Given the description of an element on the screen output the (x, y) to click on. 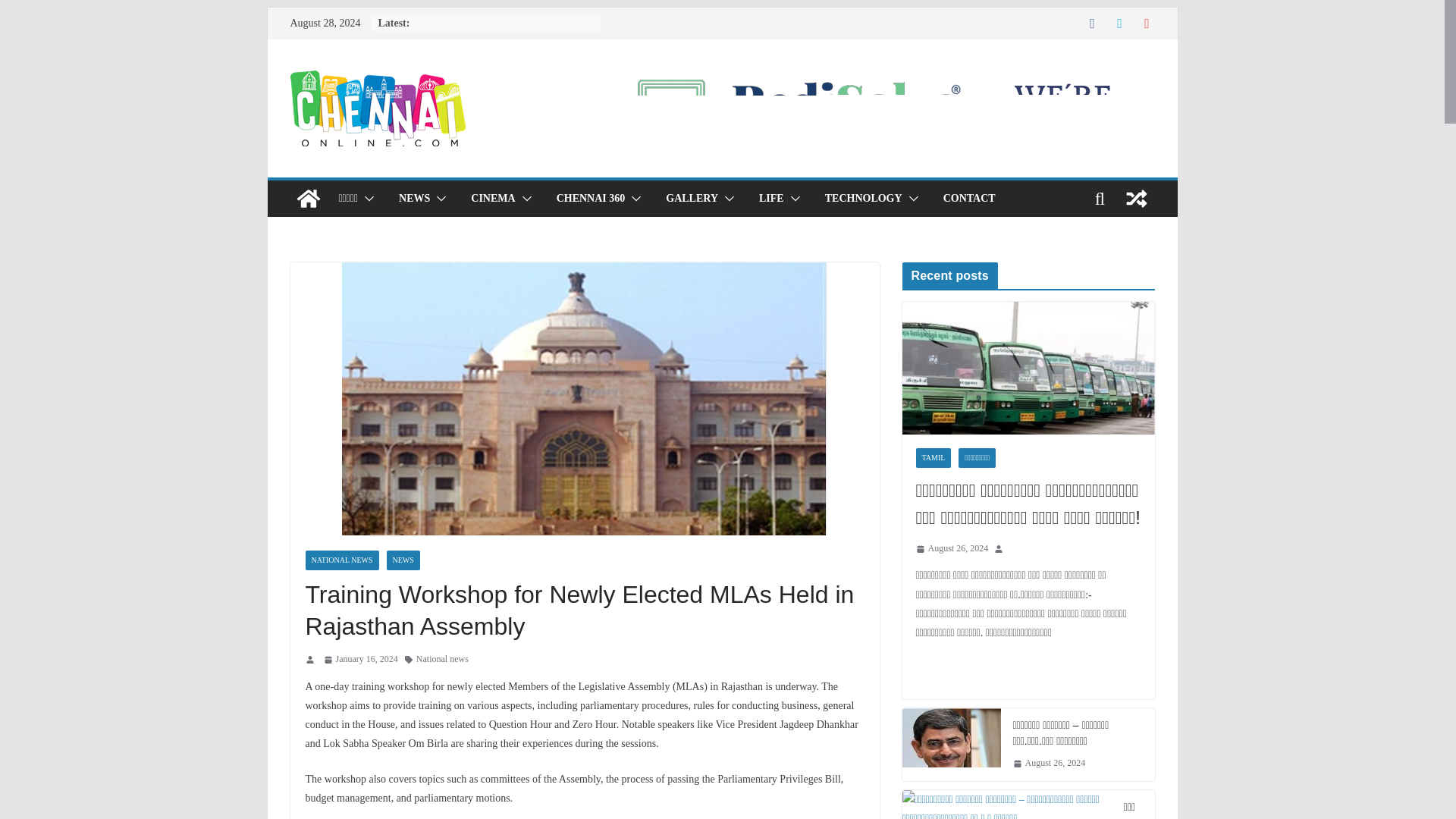
CHENNAI 360 (591, 198)
GALLERY (691, 198)
Chennaionline (307, 198)
View a random post (1136, 198)
NEWS (413, 198)
CINEMA (492, 198)
1:12 PM (360, 659)
